Given the description of an element on the screen output the (x, y) to click on. 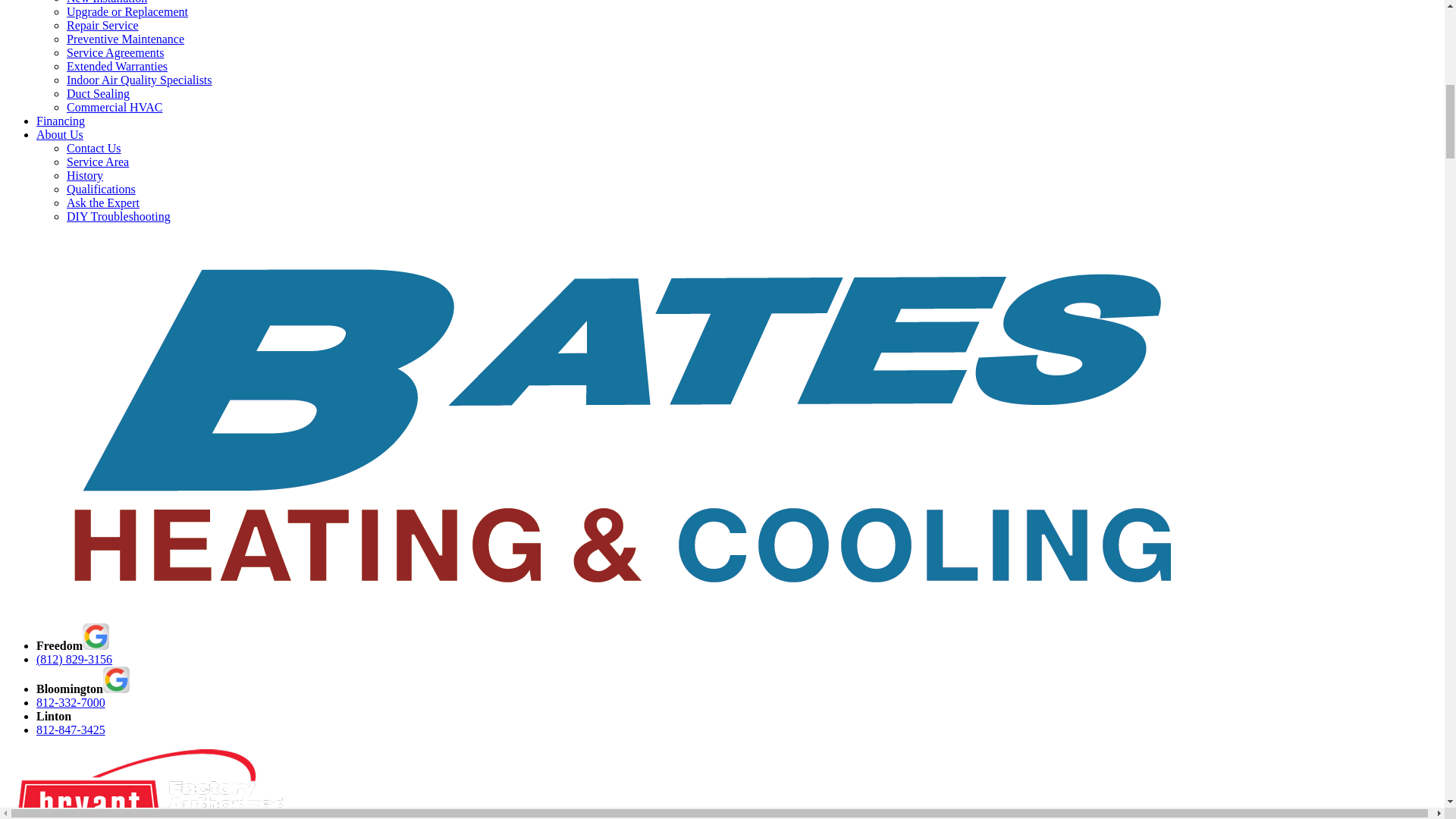
Financing (60, 120)
Ask the Expert (102, 202)
New Installation (106, 2)
Indoor Air Quality Specialists (139, 79)
Commercial HVAC (113, 106)
Service Area (97, 161)
Duct Sealing (97, 92)
Extended Warranties (116, 65)
Contact Us (93, 147)
Repair Service (102, 24)
